Given the description of an element on the screen output the (x, y) to click on. 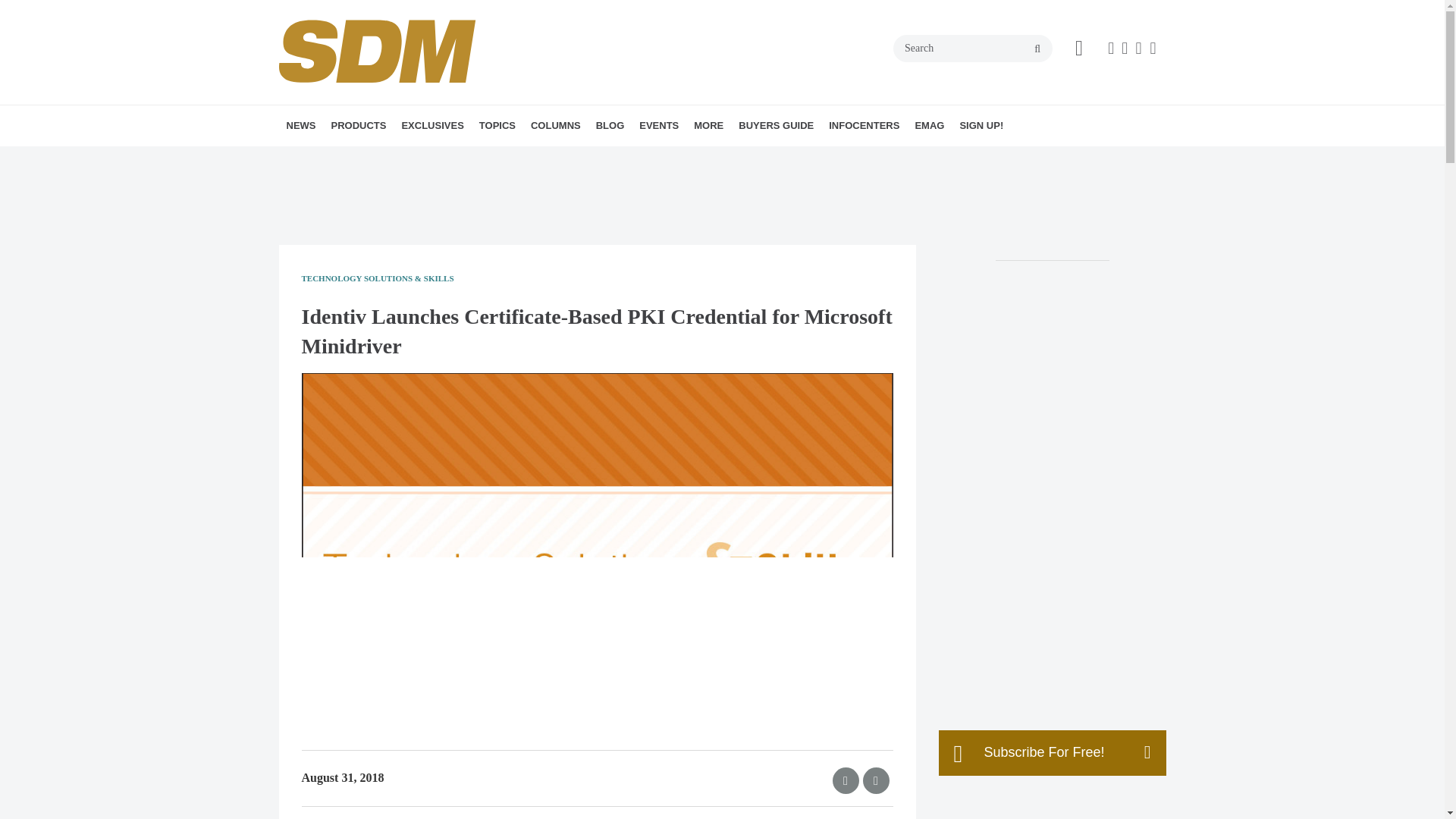
TOP SYSTEMS INTEGRATOR REPORT (496, 167)
NEWS (301, 125)
ANNUAL INDUSTRY FORECAST (504, 158)
TOPICS (496, 125)
SDM 100 (488, 158)
EDITOR'S ANGLE (625, 158)
MORE SDM TOPICS (592, 158)
SYSTEMS INTEGRATOR OF THE YEAR (519, 167)
MARKETING MADMEN (641, 158)
DEALER OF THE YEAR (515, 158)
DIGITAL SHUFFLE (617, 158)
COLUMNS (555, 125)
INTEGRATION SPOTLIGHT (636, 158)
Search (972, 48)
Search (972, 48)
